Given the description of an element on the screen output the (x, y) to click on. 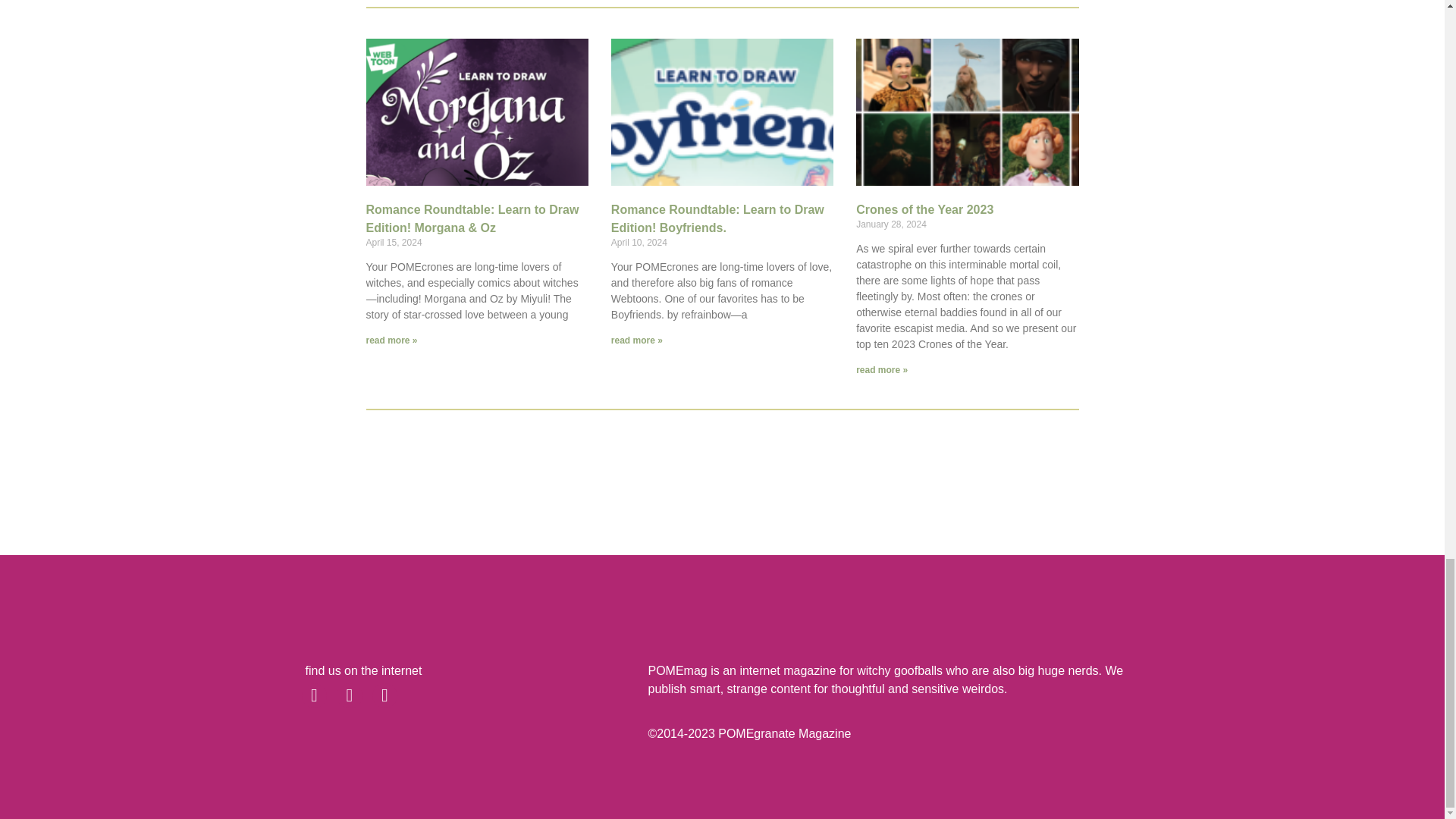
Crones of the Year 2023 (924, 209)
Romance Roundtable: Learn to Draw Edition! Boyfriends. (717, 218)
